Given the description of an element on the screen output the (x, y) to click on. 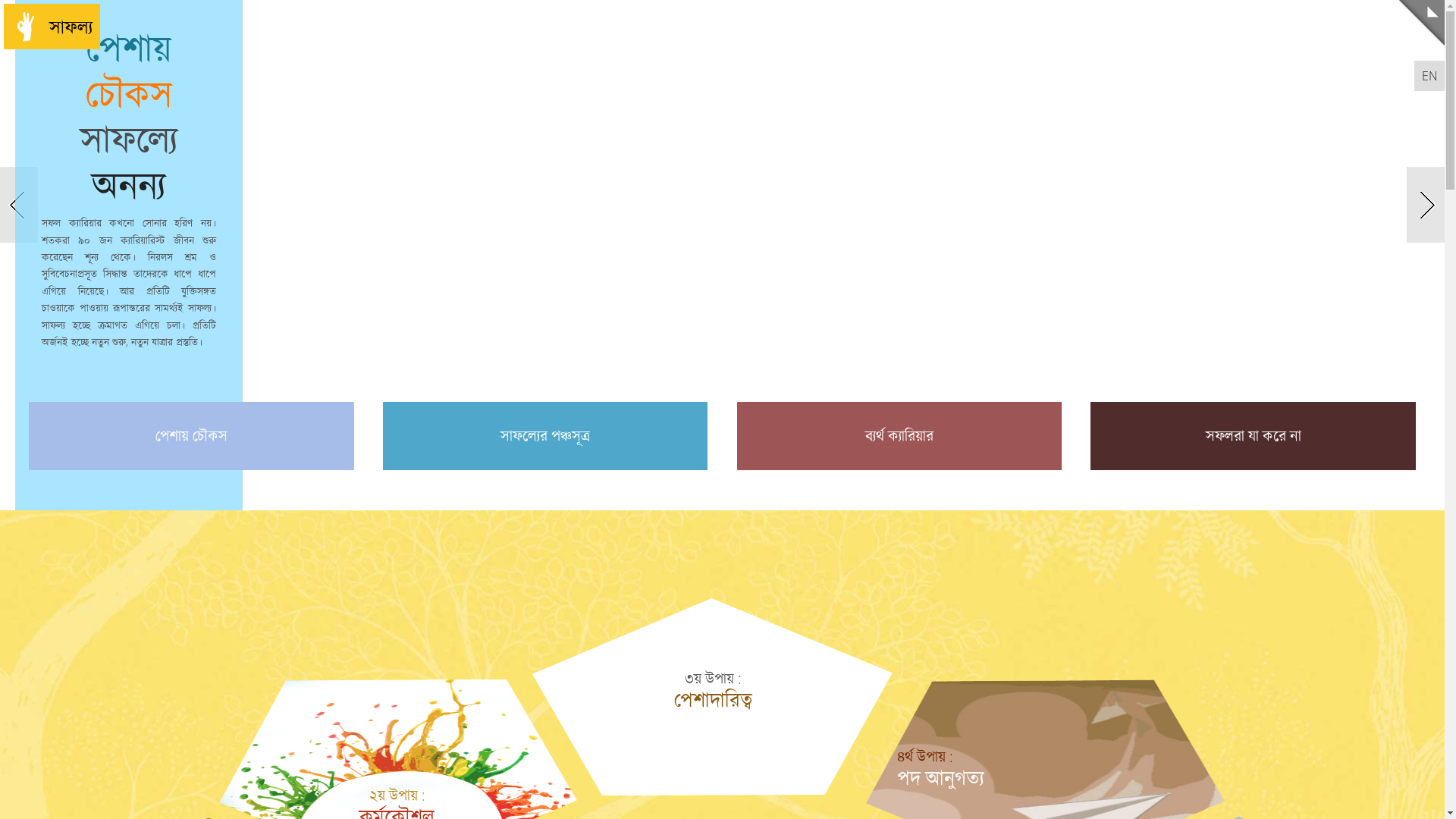
Menu Element type: hover (1421, 22)
